Given the description of an element on the screen output the (x, y) to click on. 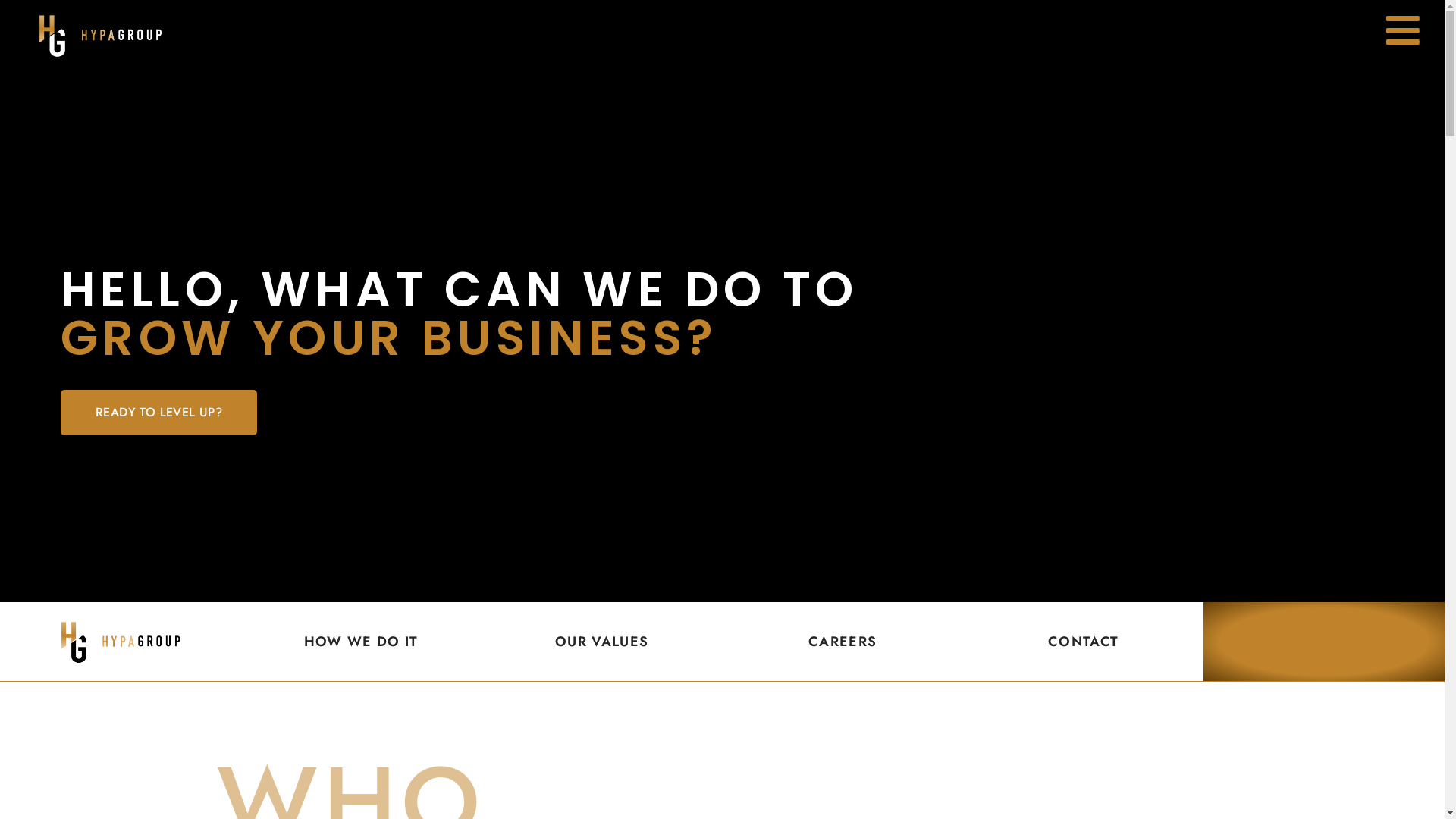
Home 1 Element type: hover (120, 640)
READY TO LEVEL UP? Element type: text (158, 412)
OUR VALUES Element type: text (602, 641)
CAREERS Element type: text (842, 641)
READY TO LEVEL UP? Element type: text (1324, 641)
CONTACT Element type: text (1083, 641)
HOW WE DO IT Element type: text (361, 641)
